Given the description of an element on the screen output the (x, y) to click on. 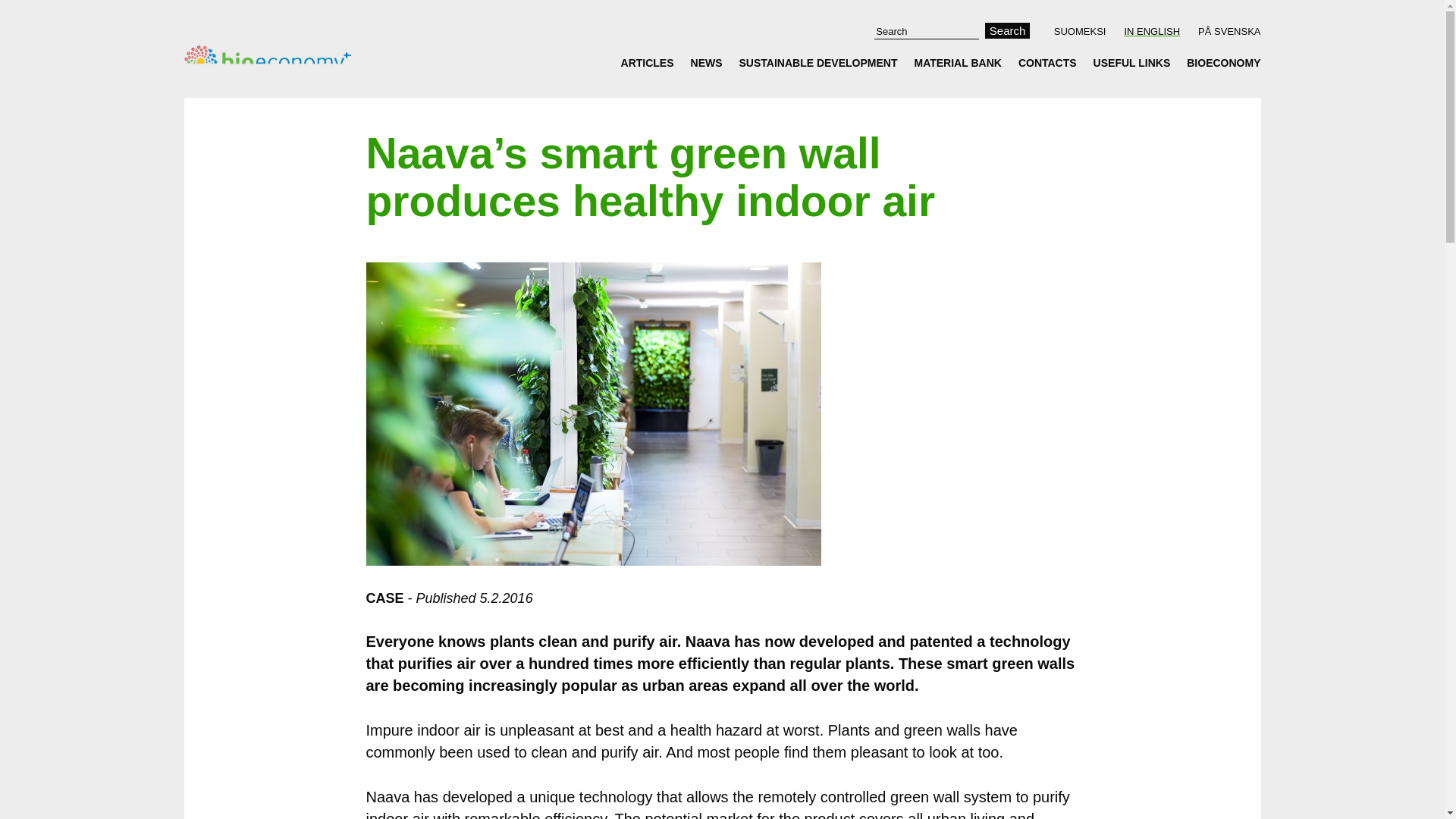
CONTACTS (1047, 62)
USEFUL LINKS (1131, 62)
NEWS (706, 62)
SUOMEKSI (1083, 31)
MATERIAL BANK (957, 62)
Search (1007, 30)
BIOECONOMY (1218, 62)
SUSTAINABLE DEVELOPMENT (817, 62)
IN ENGLISH (1152, 31)
ARTICLES (651, 62)
